Given the description of an element on the screen output the (x, y) to click on. 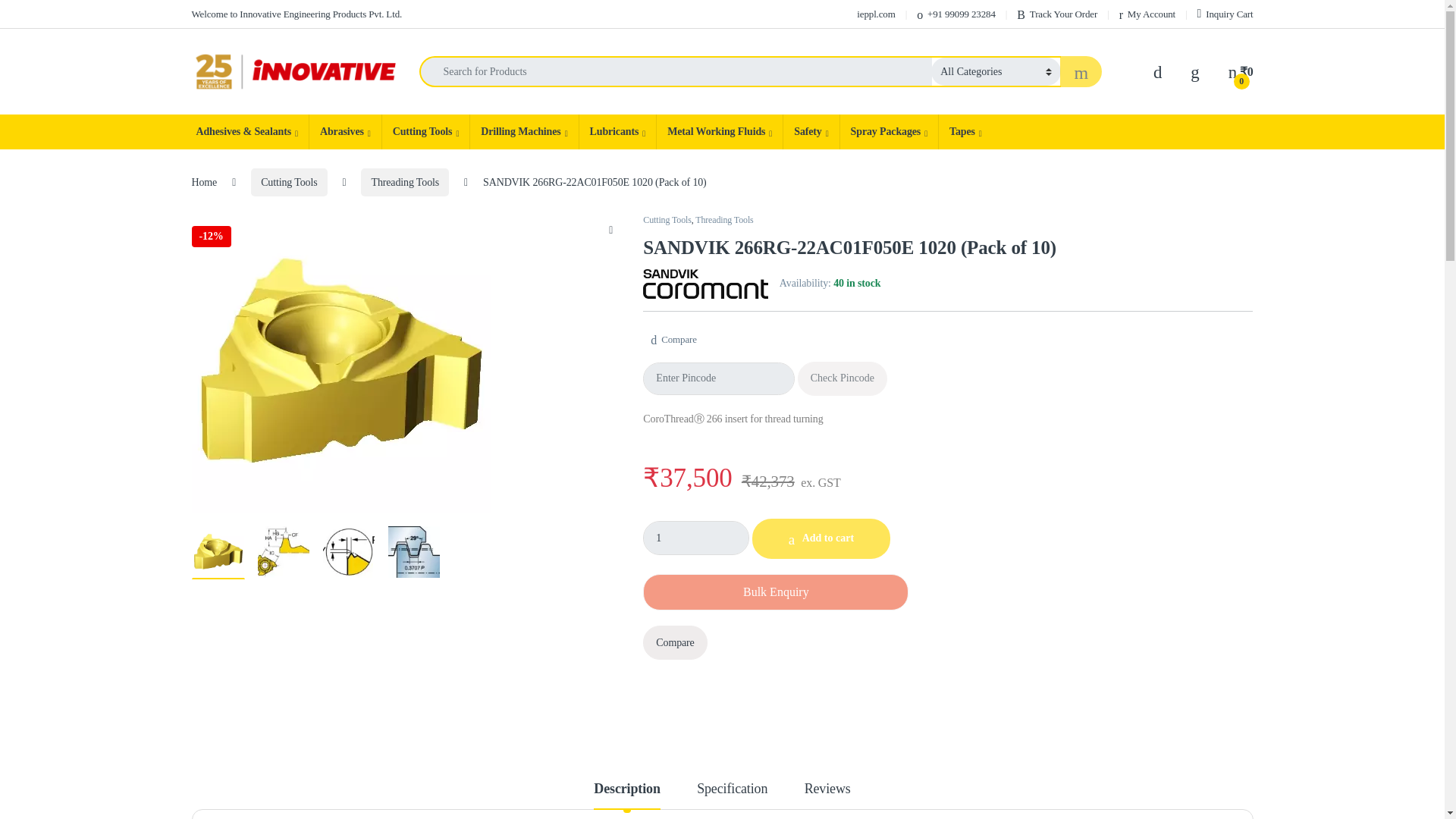
Track Your Order (1056, 13)
My Account (1146, 13)
Track Your Order (1056, 13)
ieppl.com (876, 13)
ieppl.com (876, 13)
Inquiry Cart (1224, 13)
Welcome to Innovative Engineering Products Pvt. Ltd. (295, 13)
My Account (1146, 13)
Inquiry Cart (1224, 13)
Welcome to Innovative Engineering Products Pvt. Ltd. (295, 13)
1 (696, 537)
